Given the description of an element on the screen output the (x, y) to click on. 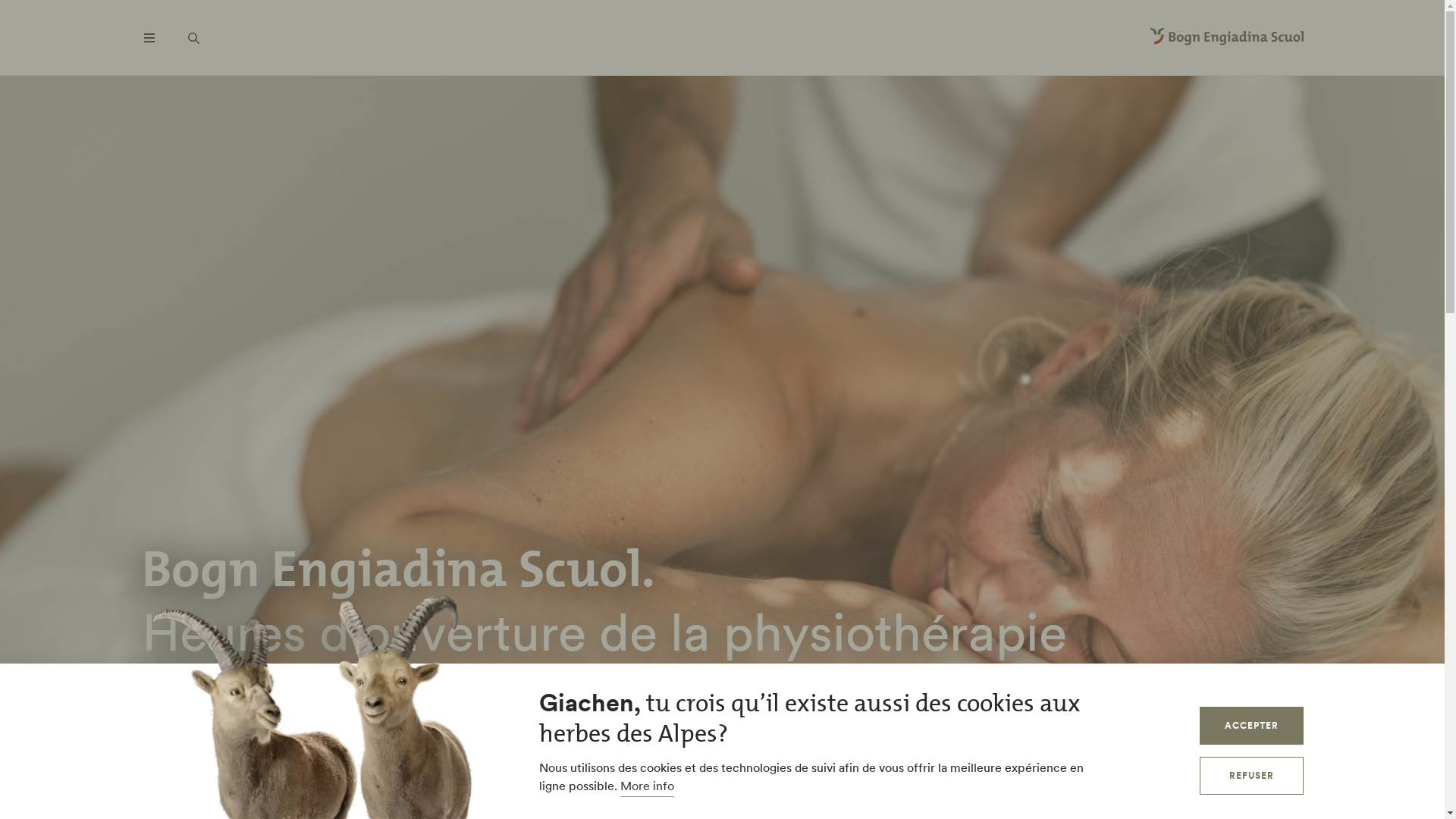
Home Element type: hover (1225, 37)
REFUSER Element type: text (1251, 775)
ACCEPTER Element type: text (1251, 725)
More info Element type: text (647, 787)
